Given the description of an element on the screen output the (x, y) to click on. 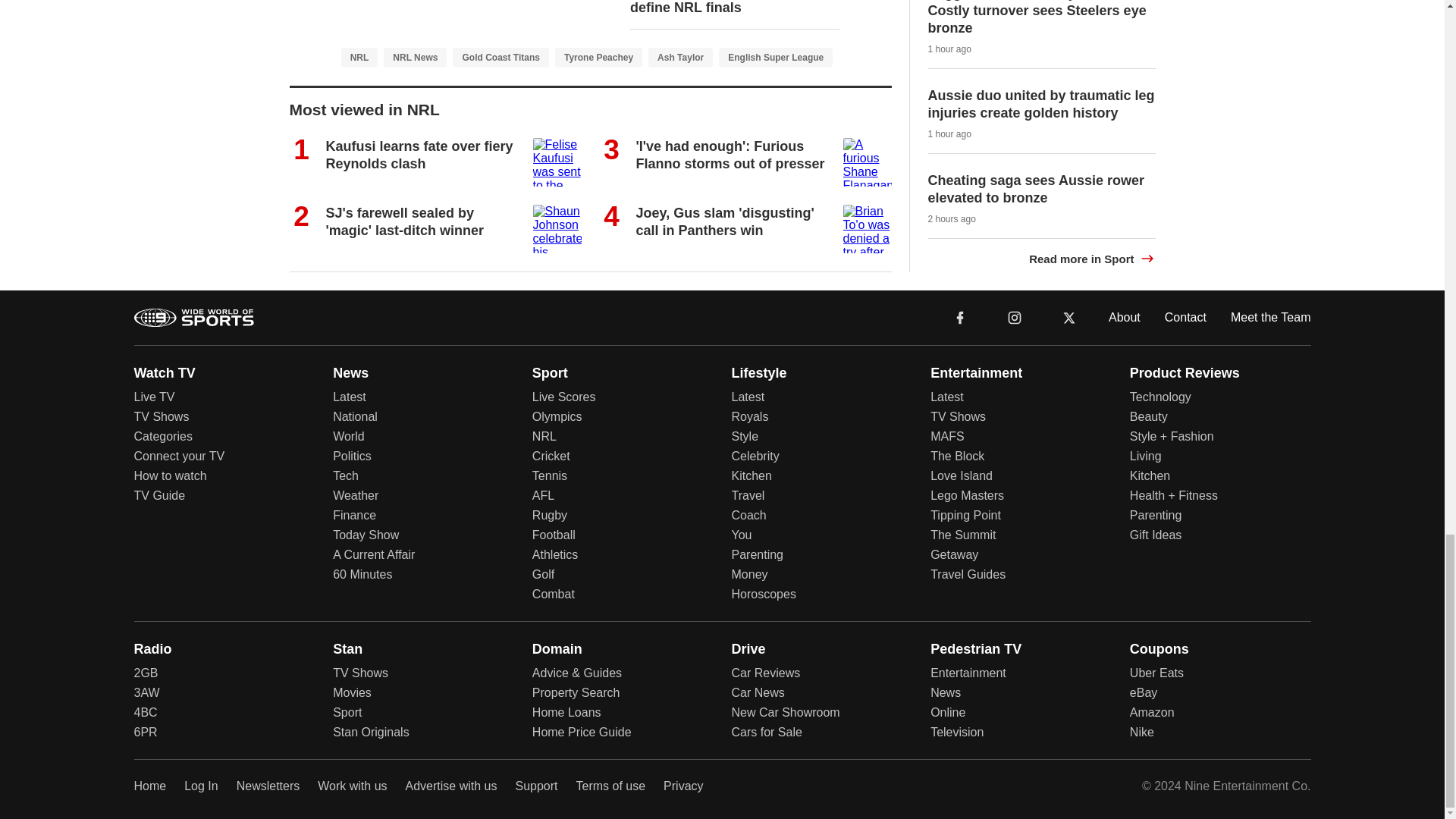
instagram (1013, 316)
x (1069, 317)
x (1069, 316)
facebook (959, 316)
facebook (960, 317)
instagram (1014, 317)
